Given the description of an element on the screen output the (x, y) to click on. 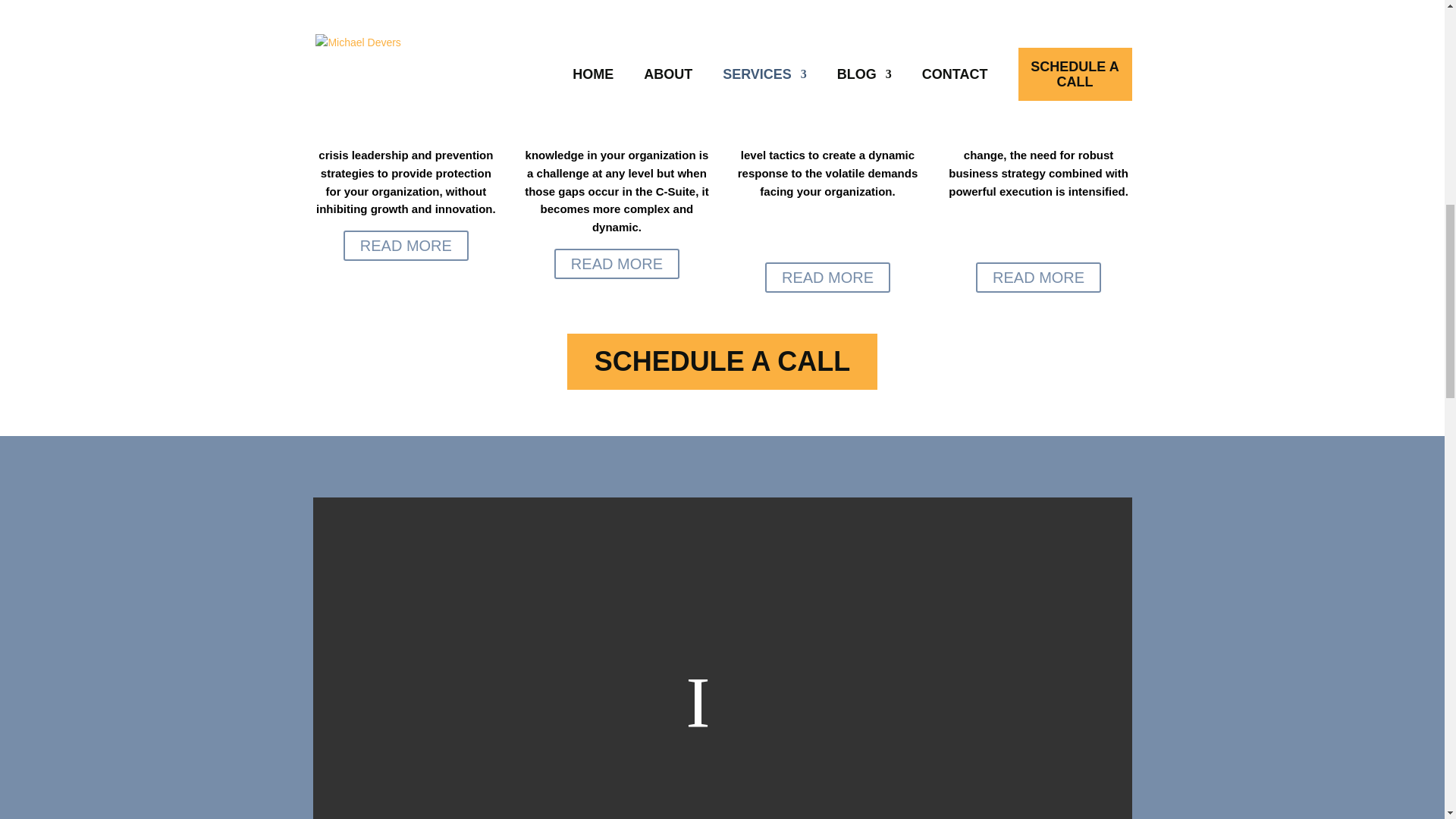
READ MORE (405, 245)
READ MORE (827, 277)
READ MORE (616, 263)
READ MORE (1037, 277)
SCHEDULE A CALL (722, 361)
